Given the description of an element on the screen output the (x, y) to click on. 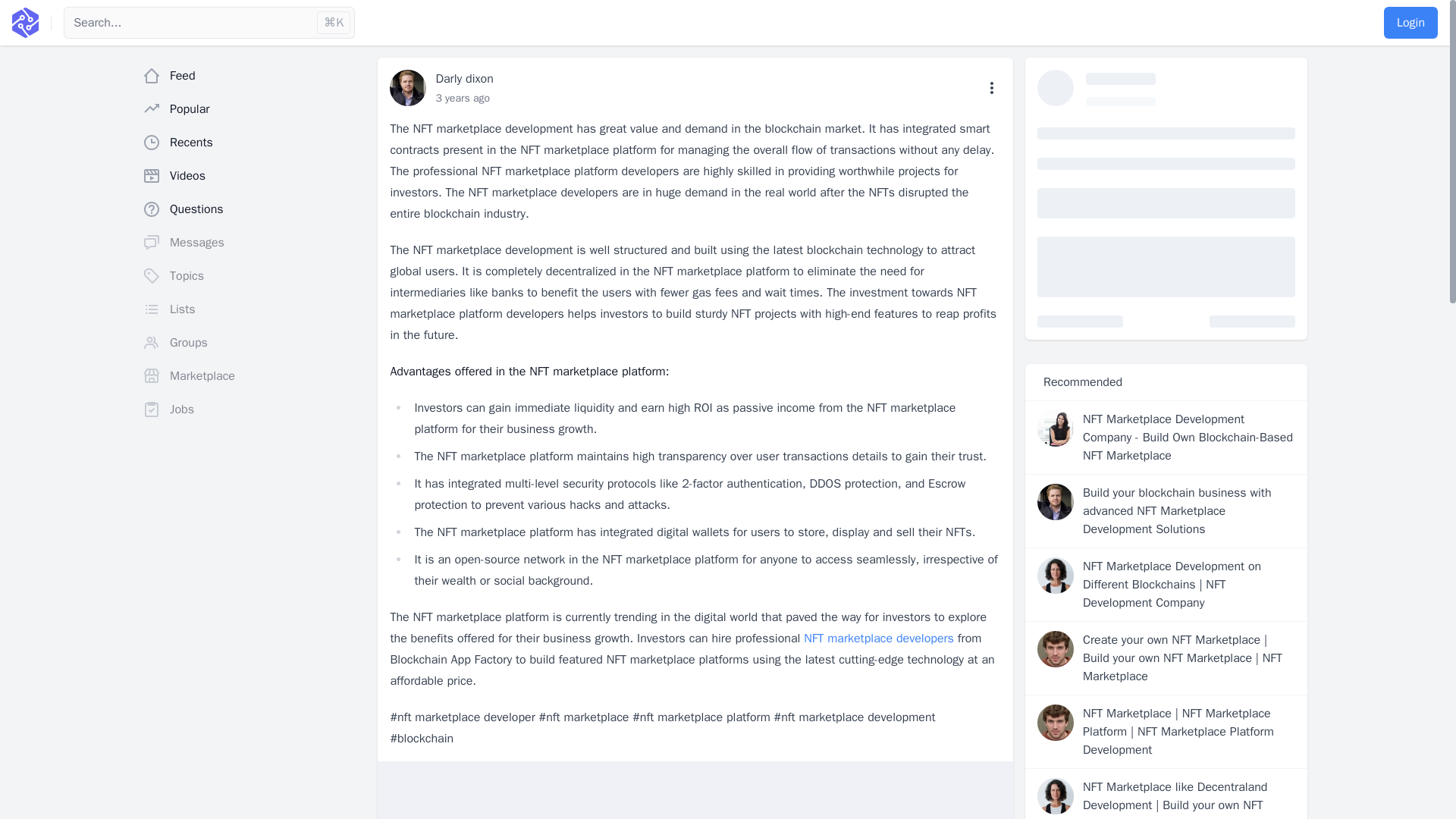
Open options (991, 87)
3 years ago (462, 97)
NFT marketplace developers (878, 638)
Login (1411, 22)
Darly dixon (464, 78)
Popular (253, 109)
Videos (253, 175)
Questions (253, 209)
